Given the description of an element on the screen output the (x, y) to click on. 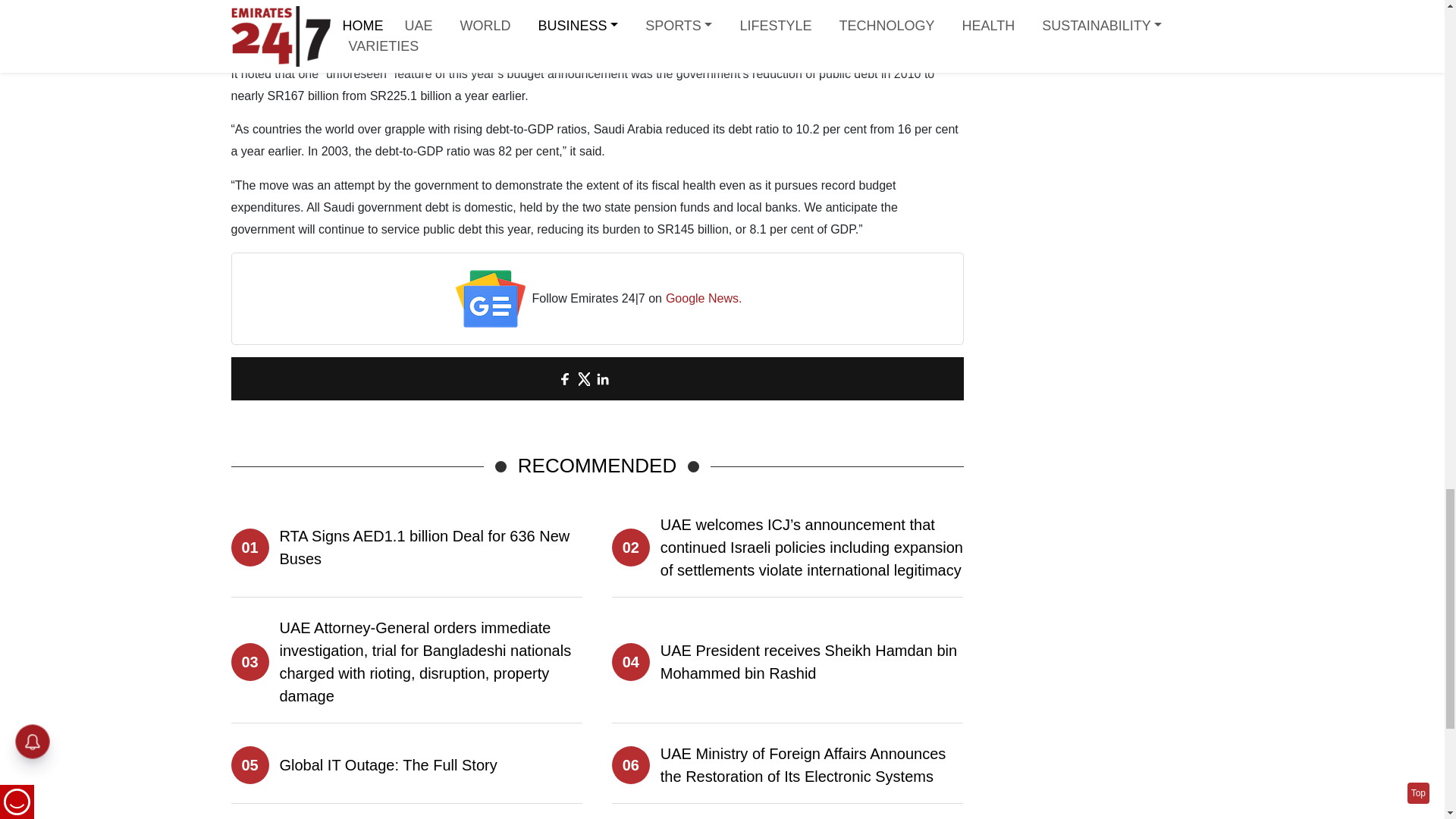
Google News. (703, 299)
